Given the description of an element on the screen output the (x, y) to click on. 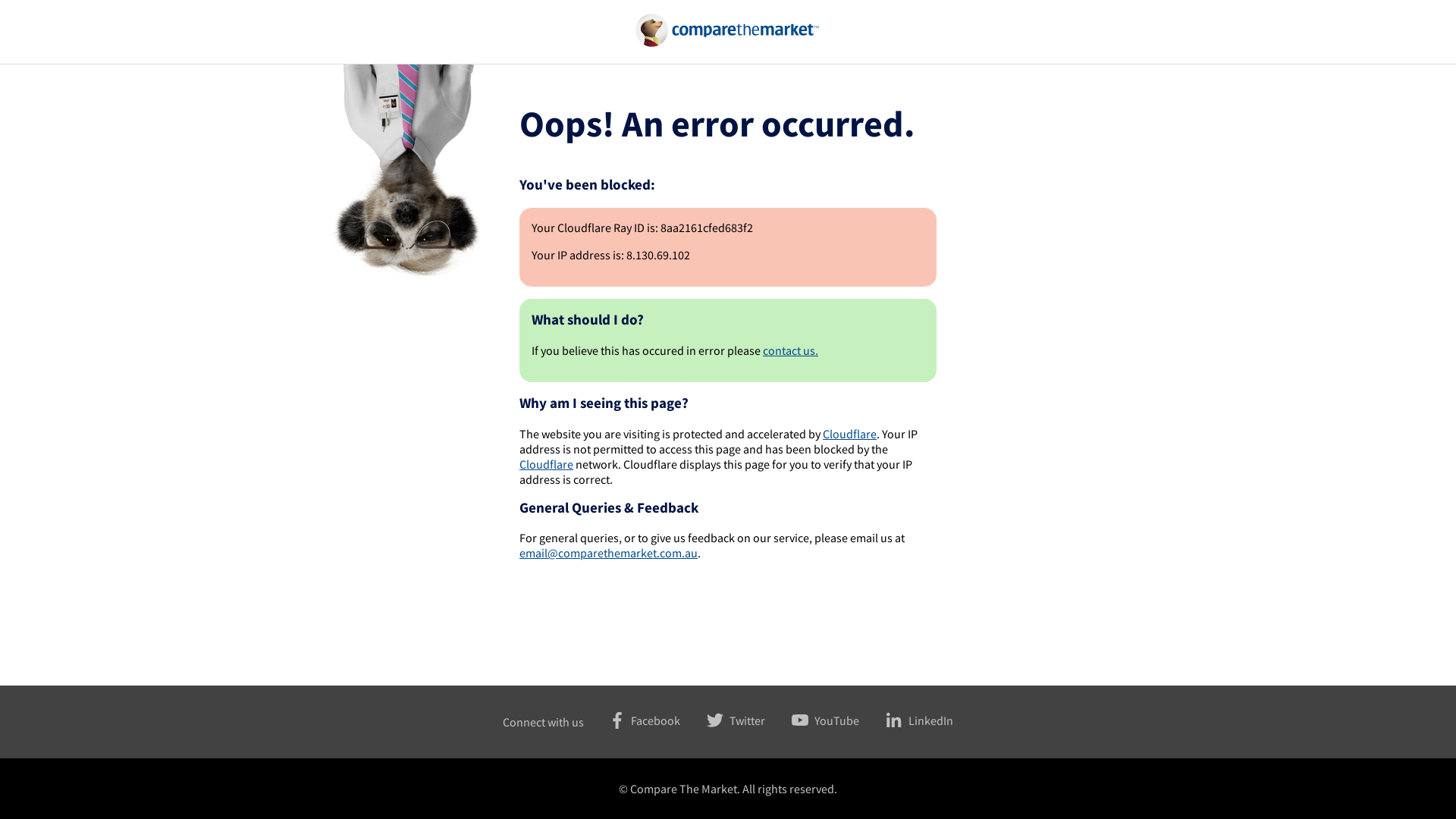
contact us. (790, 350)
Logo CompareTheMarket (727, 29)
Twitter (723, 719)
Logo YouTube (800, 719)
Logo Twitter (714, 719)
Logo Facebook (616, 719)
YouTube (813, 719)
LinkedIn (907, 719)
Logo LinkedIn (893, 719)
Facebook (631, 719)
Cloudflare (546, 463)
Cloudflare (849, 433)
